Given the description of an element on the screen output the (x, y) to click on. 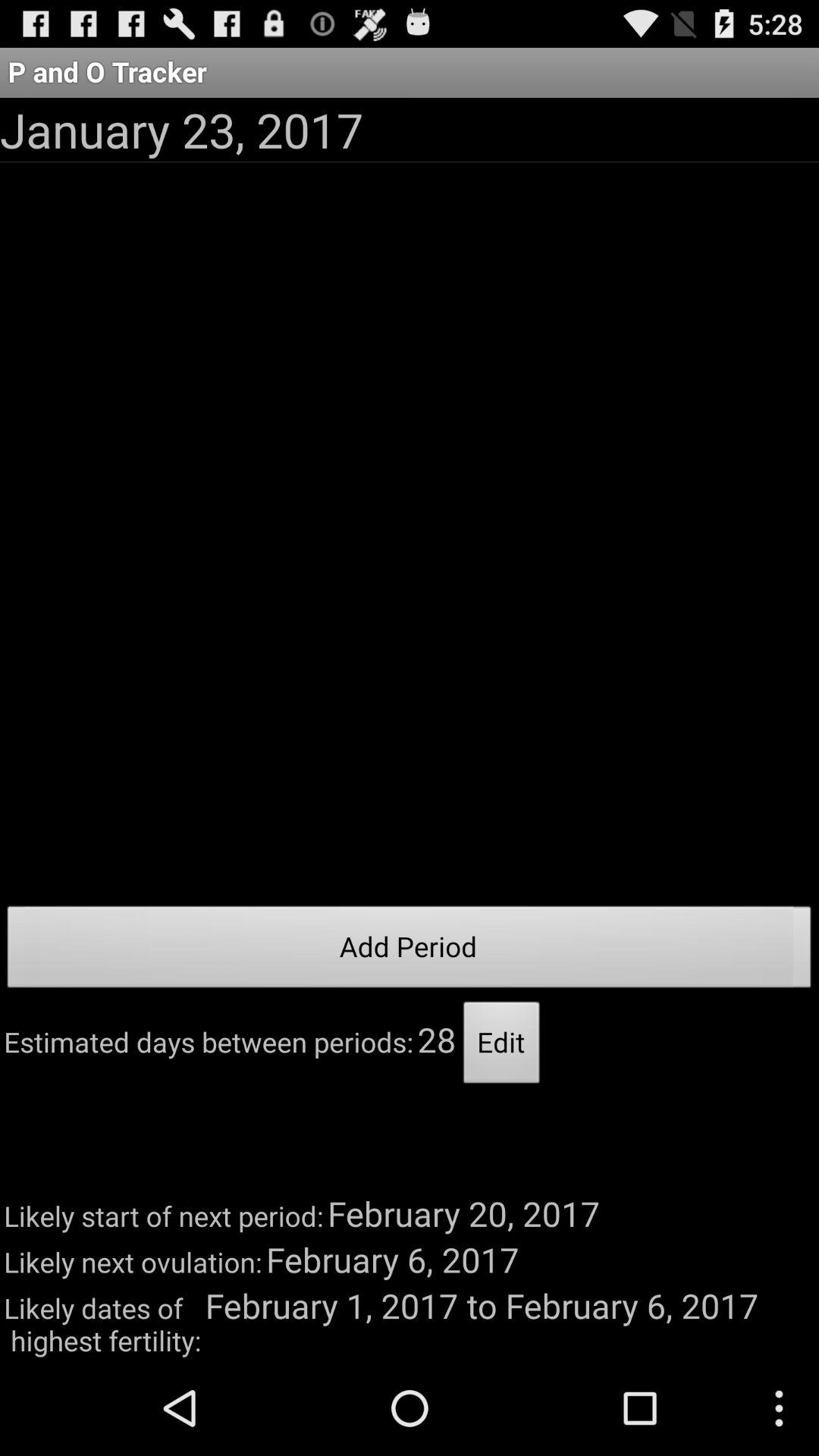
choose the button above the edit icon (409, 951)
